Given the description of an element on the screen output the (x, y) to click on. 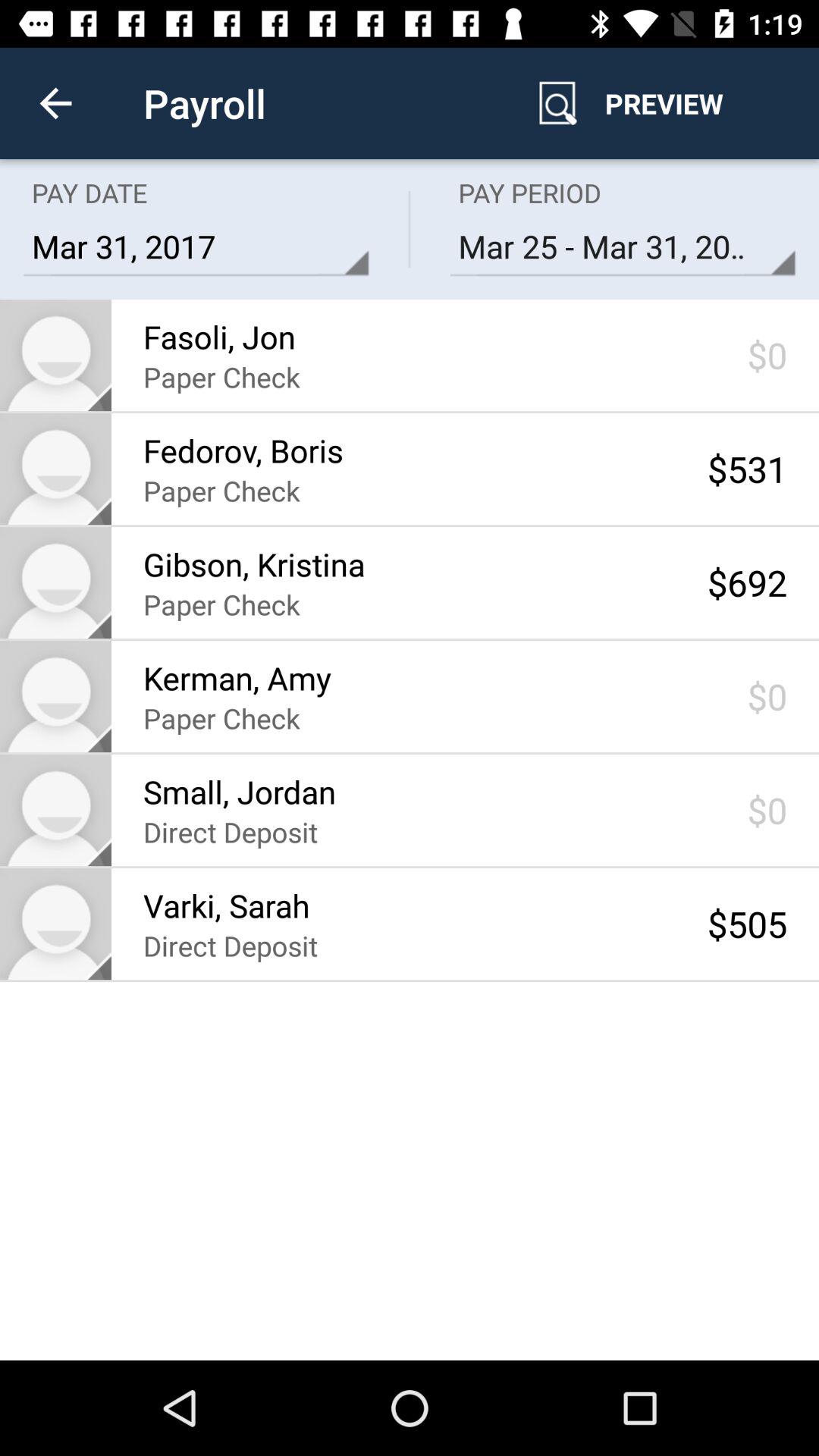
select the user (55, 923)
